Given the description of an element on the screen output the (x, y) to click on. 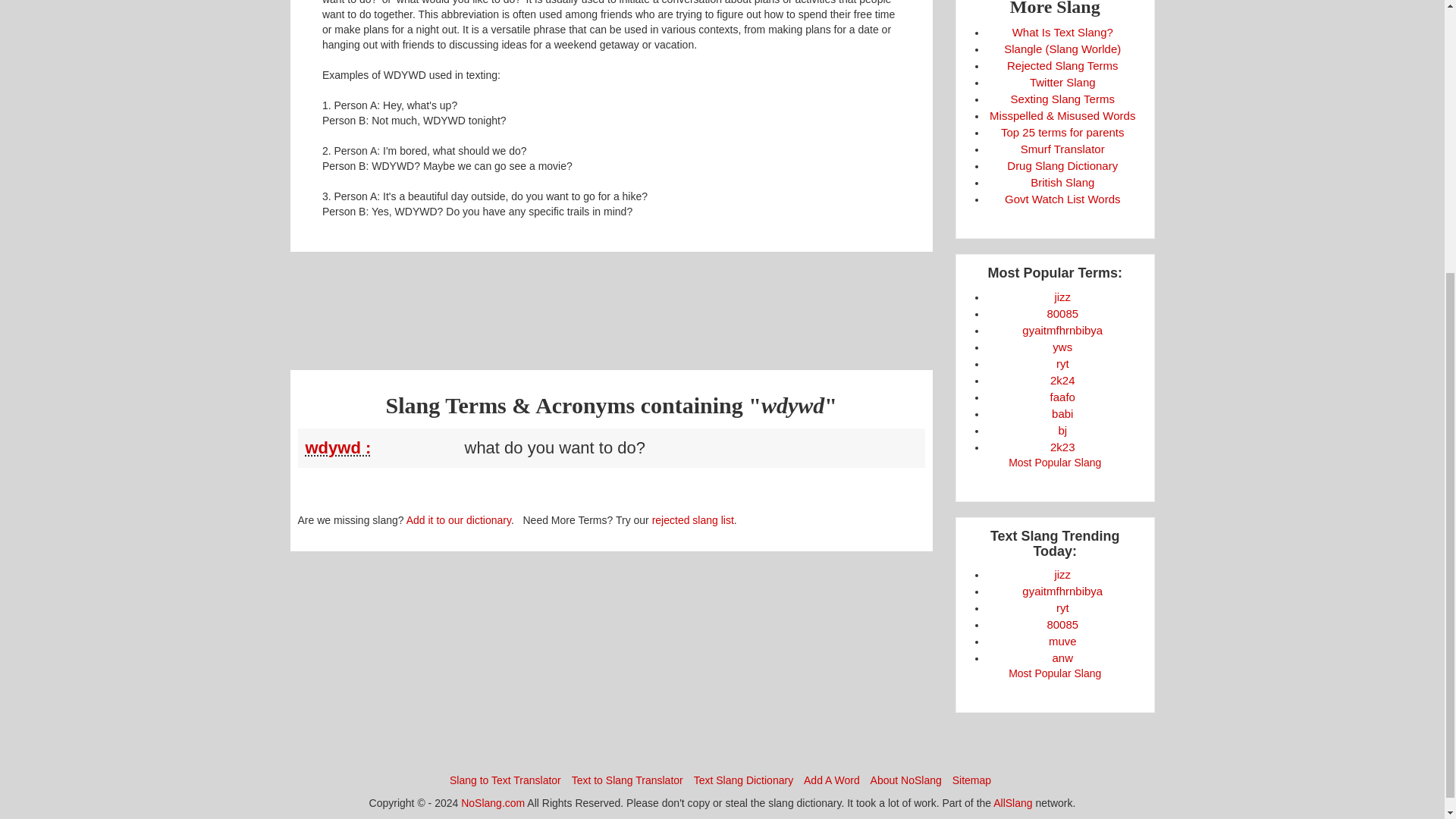
Boobs (1062, 313)
Most Popular Slang (1054, 462)
2k24 (1062, 379)
right (1062, 363)
Top 25 terms for parents (1062, 132)
faafo (1062, 396)
What Is Text Slang? (1062, 31)
babi (1062, 413)
jizz (1062, 296)
